Given the description of an element on the screen output the (x, y) to click on. 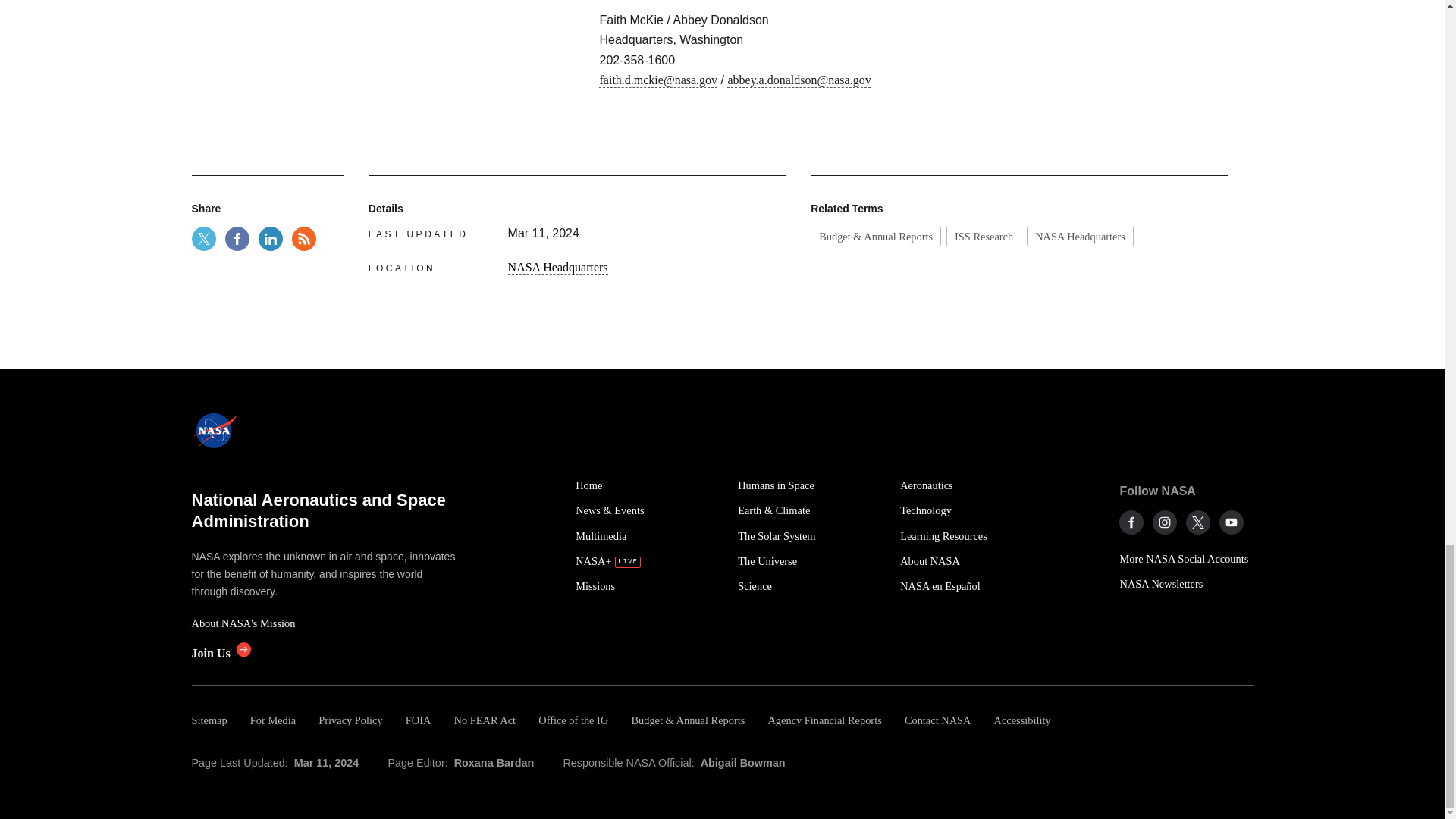
NASA on X (1197, 522)
NASA on YouTube (1231, 522)
NASA on Instagram (1164, 522)
About NASA's Mission (324, 623)
ISS Research (984, 236)
NASA Headquarters (1080, 236)
Multimedia (647, 536)
NASA Headquarters (558, 267)
Home (647, 485)
Join Us (220, 653)
